Given the description of an element on the screen output the (x, y) to click on. 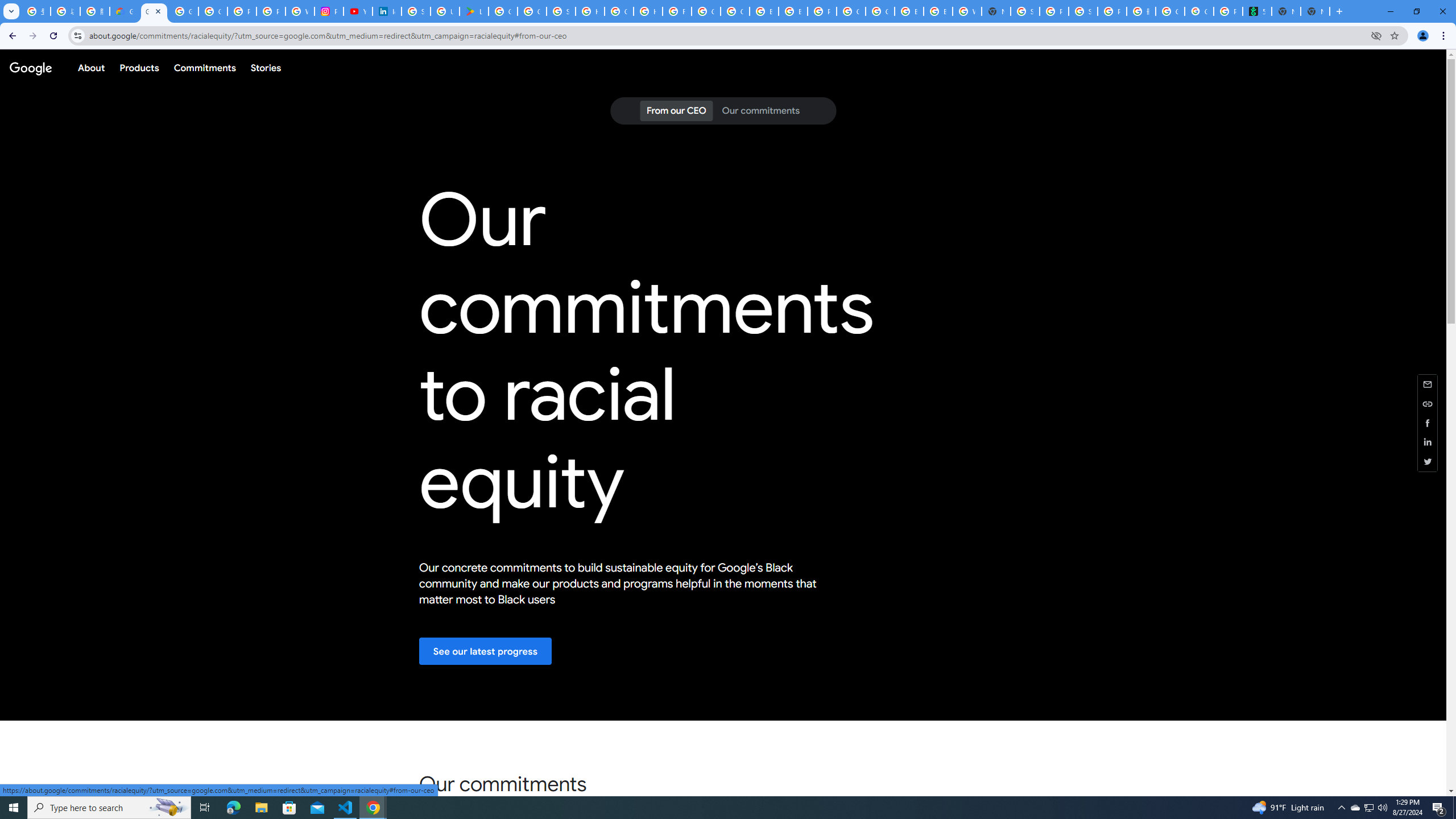
Our commitments: Jump to page section (760, 110)
Share this page (Copy) (1427, 403)
Browse Chrome as a guest - Computer - Google Chrome Help (792, 11)
Last Shelter: Survival - Apps on Google Play (473, 11)
Sign in - Google Accounts (560, 11)
Google Cloud Platform (850, 11)
Sign in - Google Accounts (415, 11)
Google Workspace - Specific Terms (531, 11)
